Given the description of an element on the screen output the (x, y) to click on. 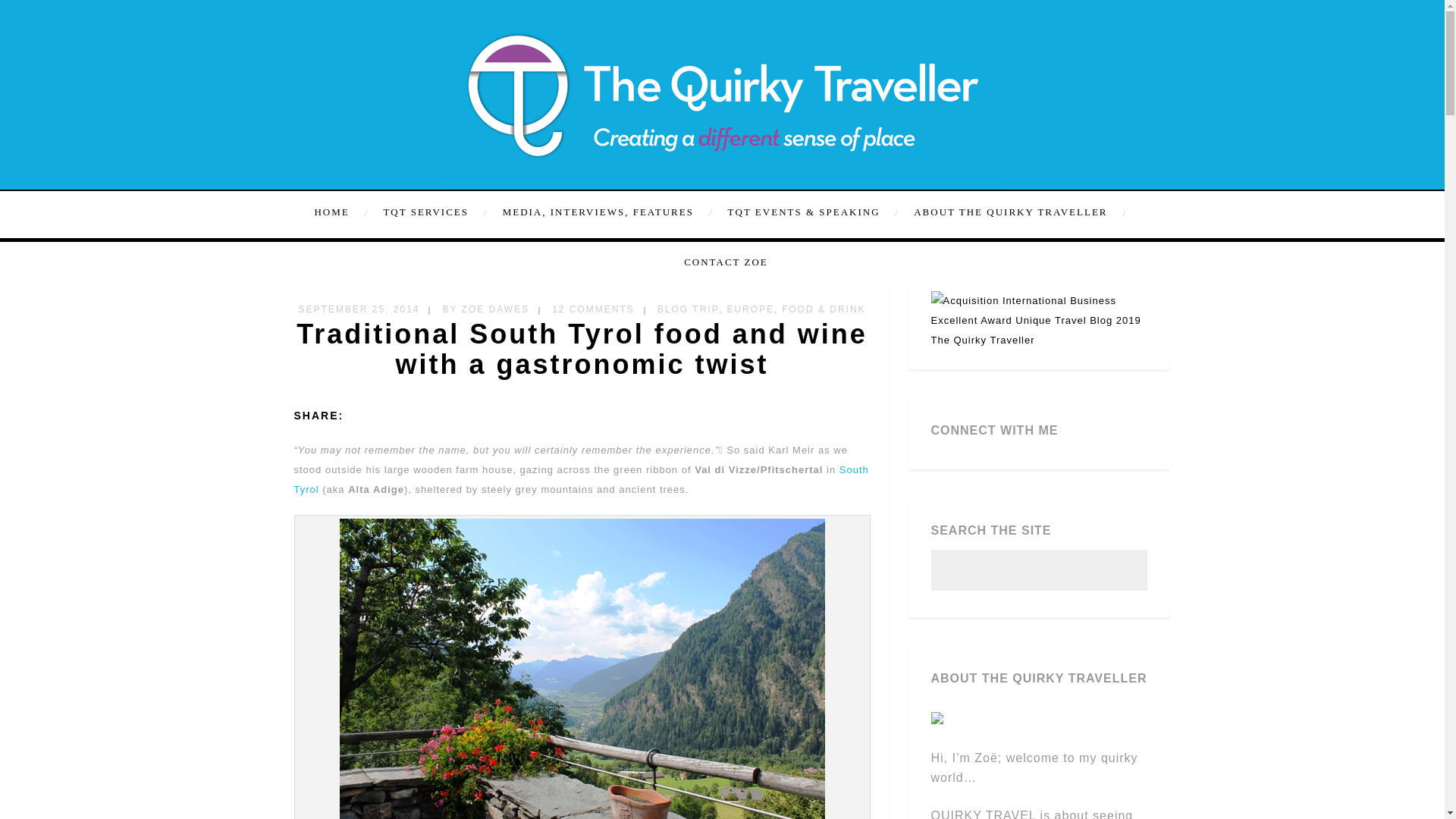
South Tyrol (581, 479)
SEPTEMBER 25, 2014 (358, 308)
TQT SERVICES (433, 212)
EUROPE (750, 308)
12 COMMENTS (592, 308)
ABOUT THE QUIRKY TRAVELLER (1017, 212)
HOME (342, 212)
MEDIA, INTERVIEWS, FEATURES (605, 212)
South Tyrol (581, 479)
BLOG TRIP (688, 308)
BY ZOE DAWES (485, 308)
CONTACT ZOE (722, 261)
